Given the description of an element on the screen output the (x, y) to click on. 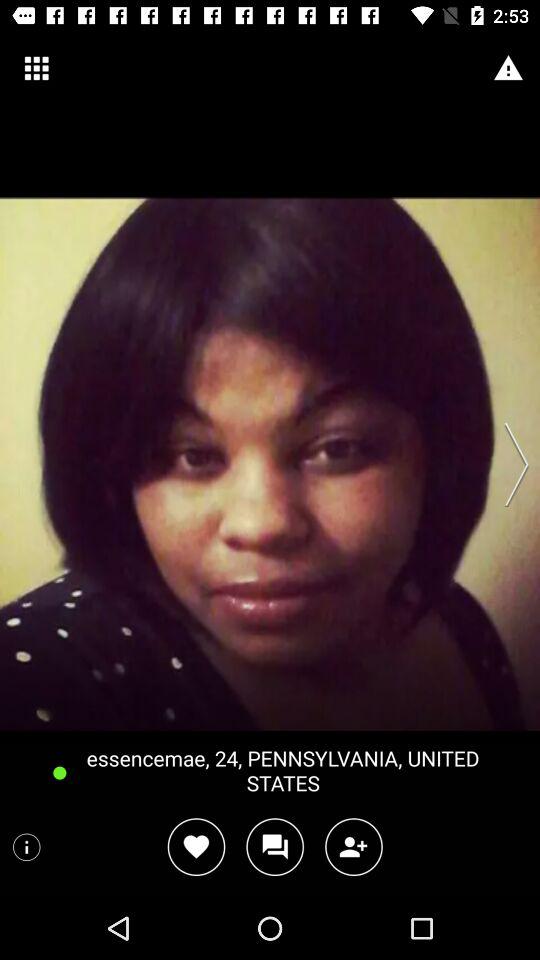
launch the item below essencemae 24 pennsylvania item (196, 846)
